Given the description of an element on the screen output the (x, y) to click on. 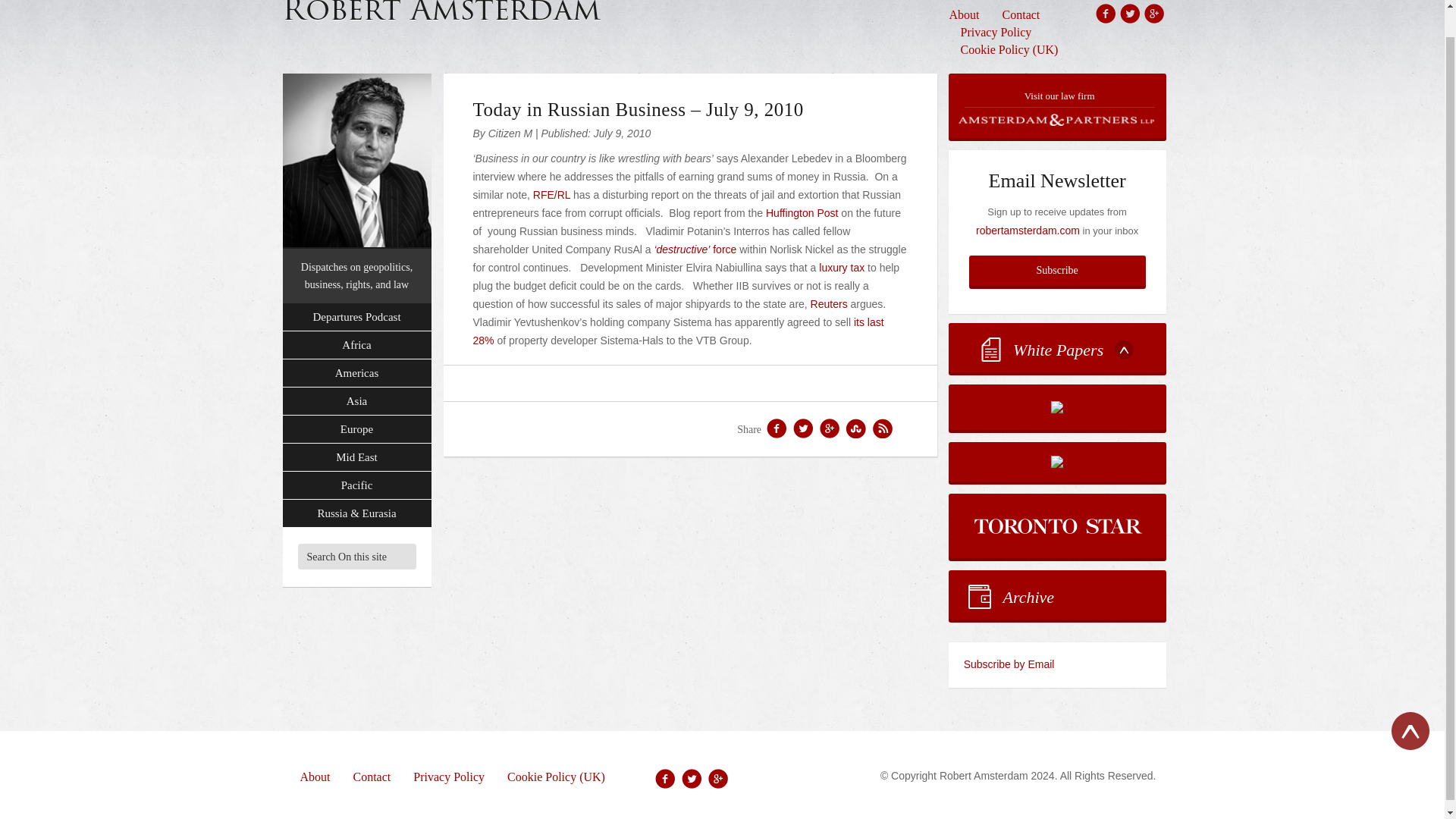
Asia (356, 401)
robertamsterdam.com (1027, 230)
Visit our law firm (1057, 105)
Subscribe to the Robert Amsterdam feed by email (1057, 664)
Privacy Policy (996, 32)
White Papers (1057, 347)
Subscribe (1057, 270)
About (970, 14)
Americas (356, 373)
luxury tax (841, 267)
